Given the description of an element on the screen output the (x, y) to click on. 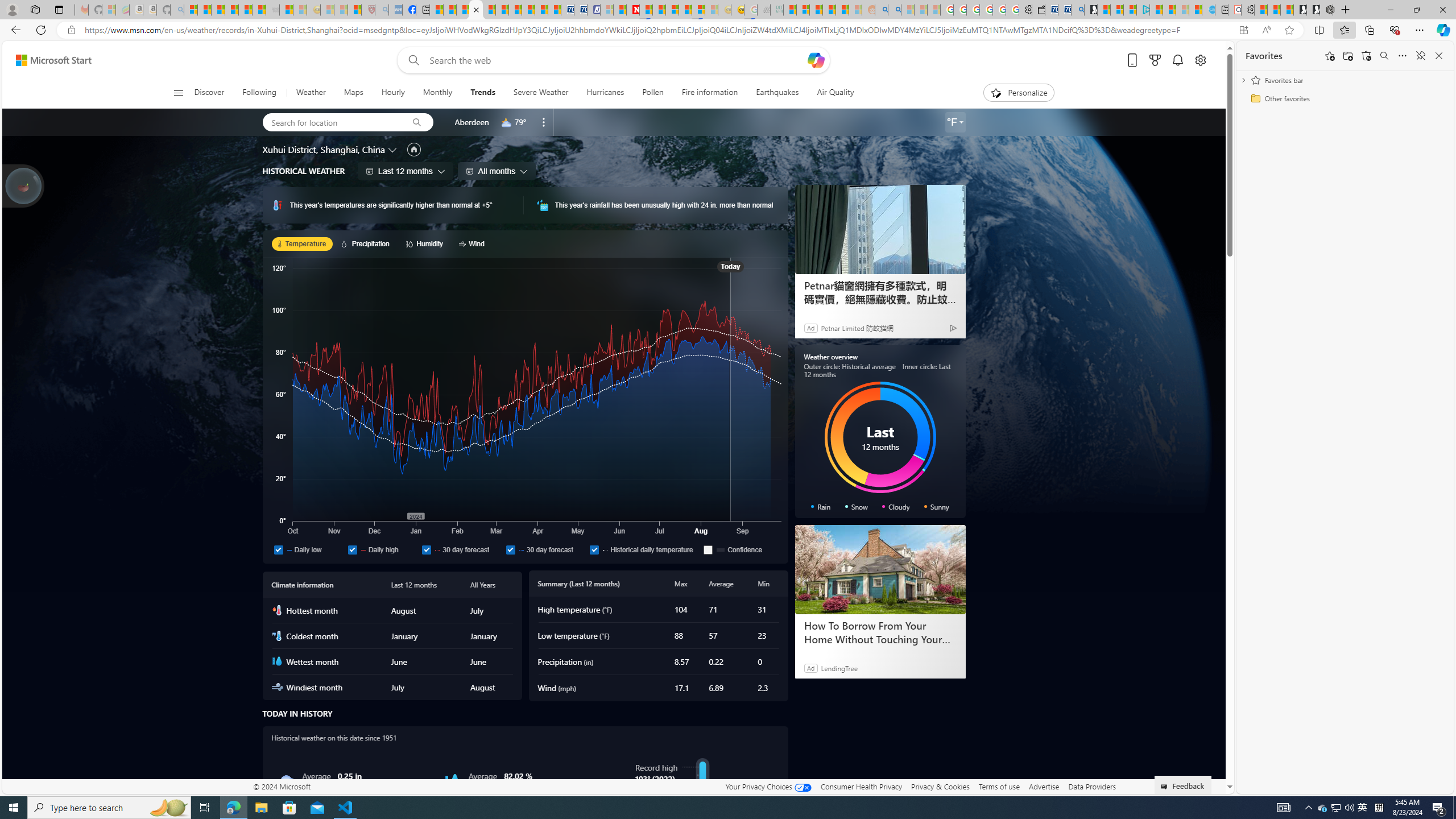
Trends (482, 92)
Join us in planting real trees to help our planet! (23, 185)
